Given the description of an element on the screen output the (x, y) to click on. 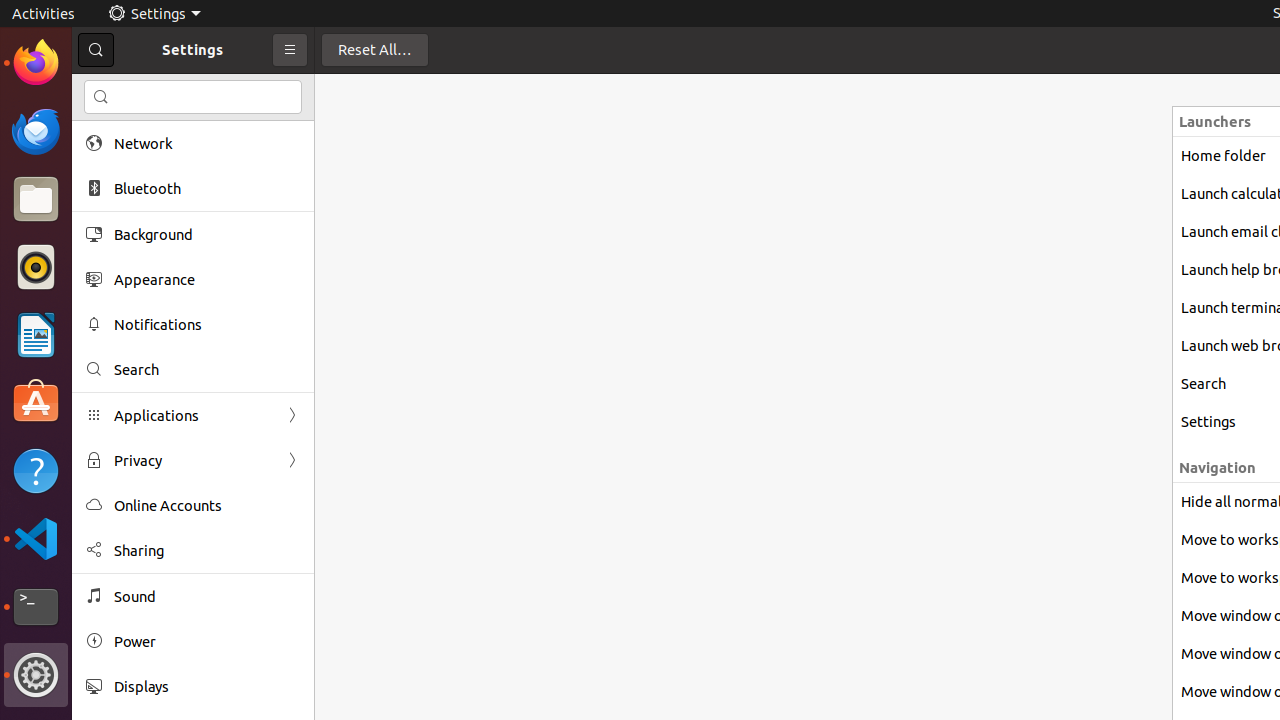
li.txt Element type: label (259, 89)
Forward Element type: icon (292, 460)
Search Element type: label (207, 369)
